Given the description of an element on the screen output the (x, y) to click on. 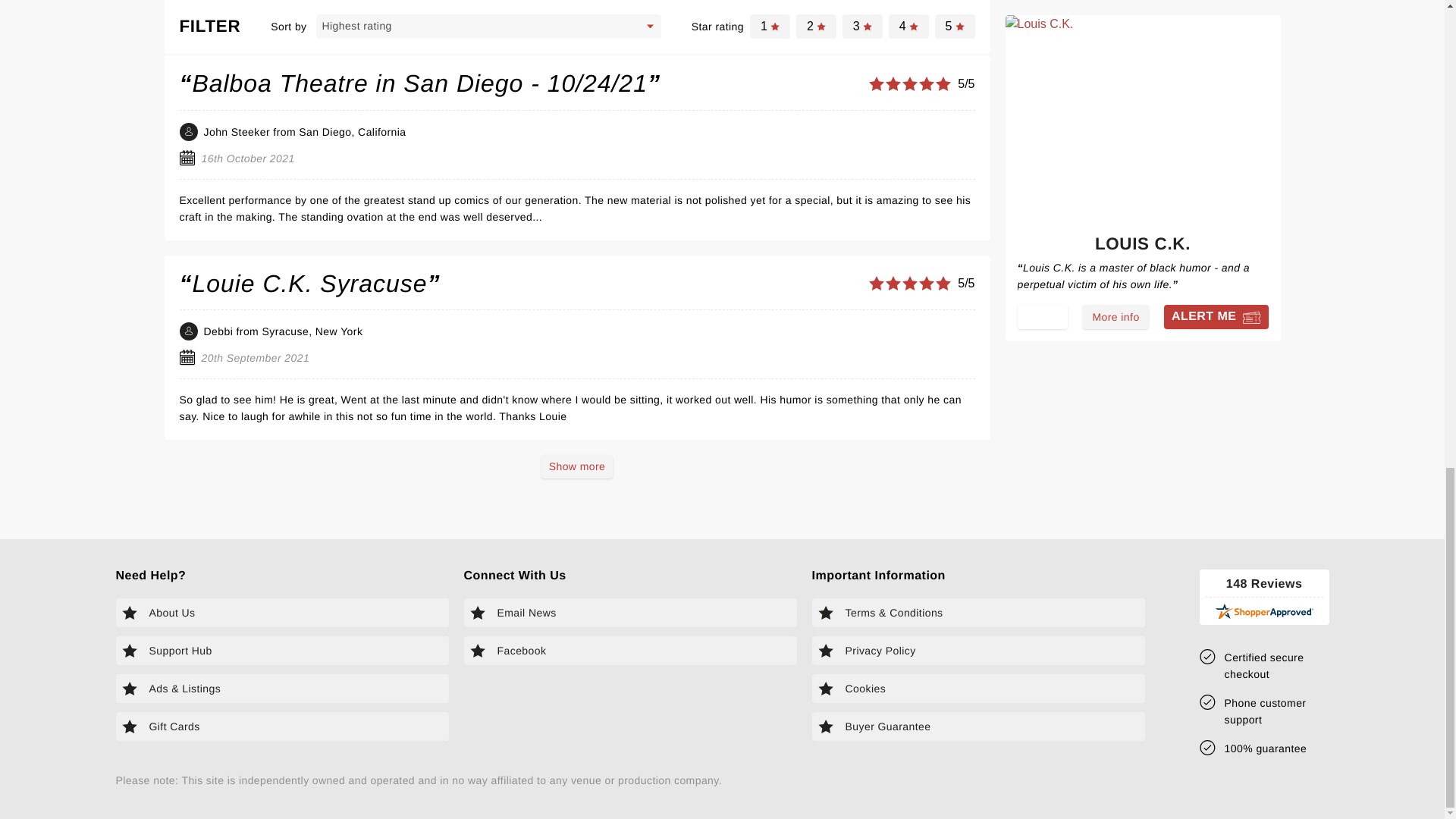
Support Hub (281, 650)
Show more (576, 466)
Email News (630, 612)
Gift Cards (281, 726)
About Us (281, 612)
Facebook (630, 650)
